Given the description of an element on the screen output the (x, y) to click on. 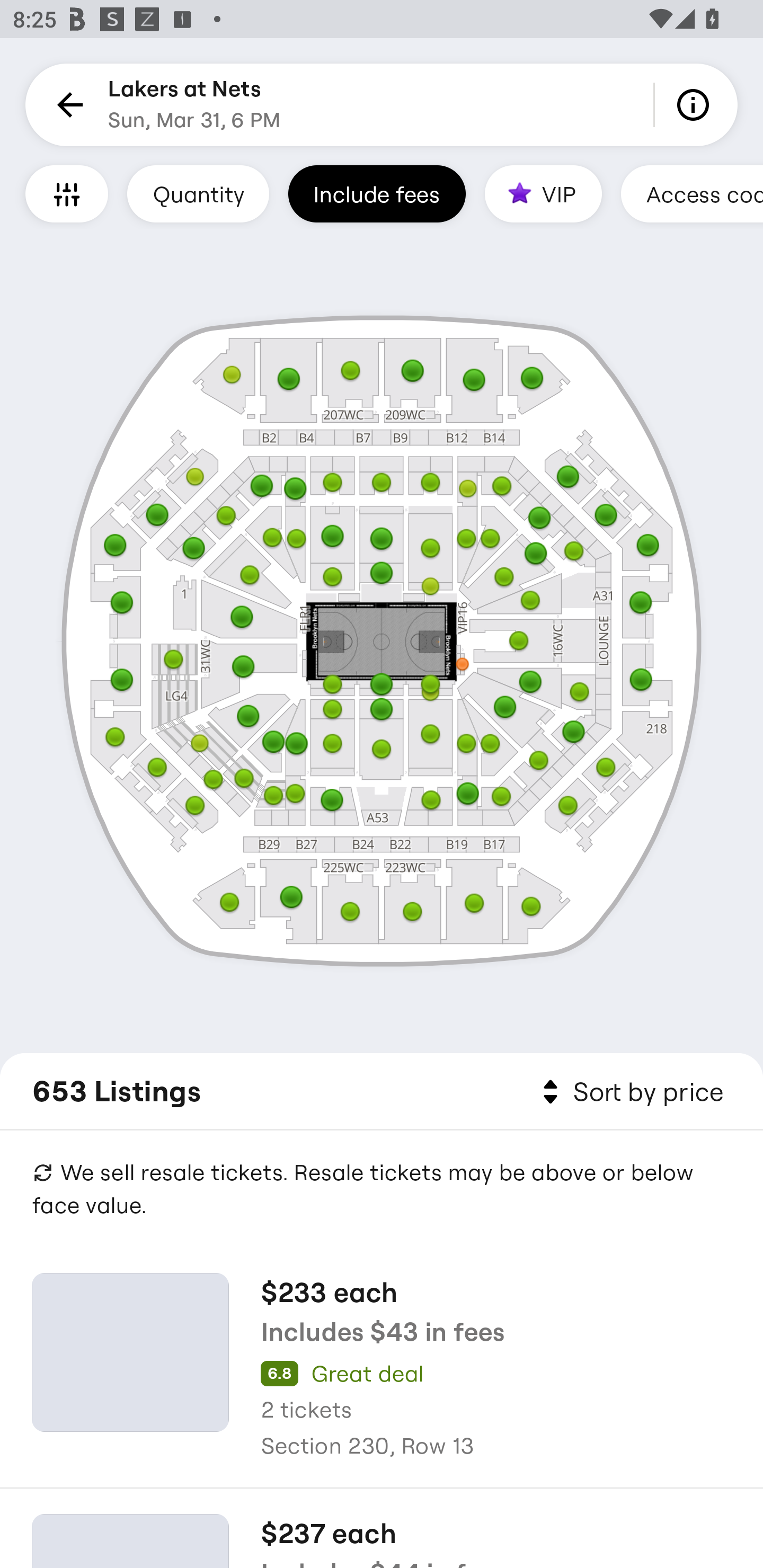
Back (66, 104)
Lakers at Nets Sun, Mar 31, 6 PM (194, 104)
Info (695, 104)
Filters and Accessible Seating (66, 193)
Quantity (198, 193)
Include fees (376, 193)
VIP (543, 193)
Access code (692, 193)
Sort by price (629, 1091)
